Given the description of an element on the screen output the (x, y) to click on. 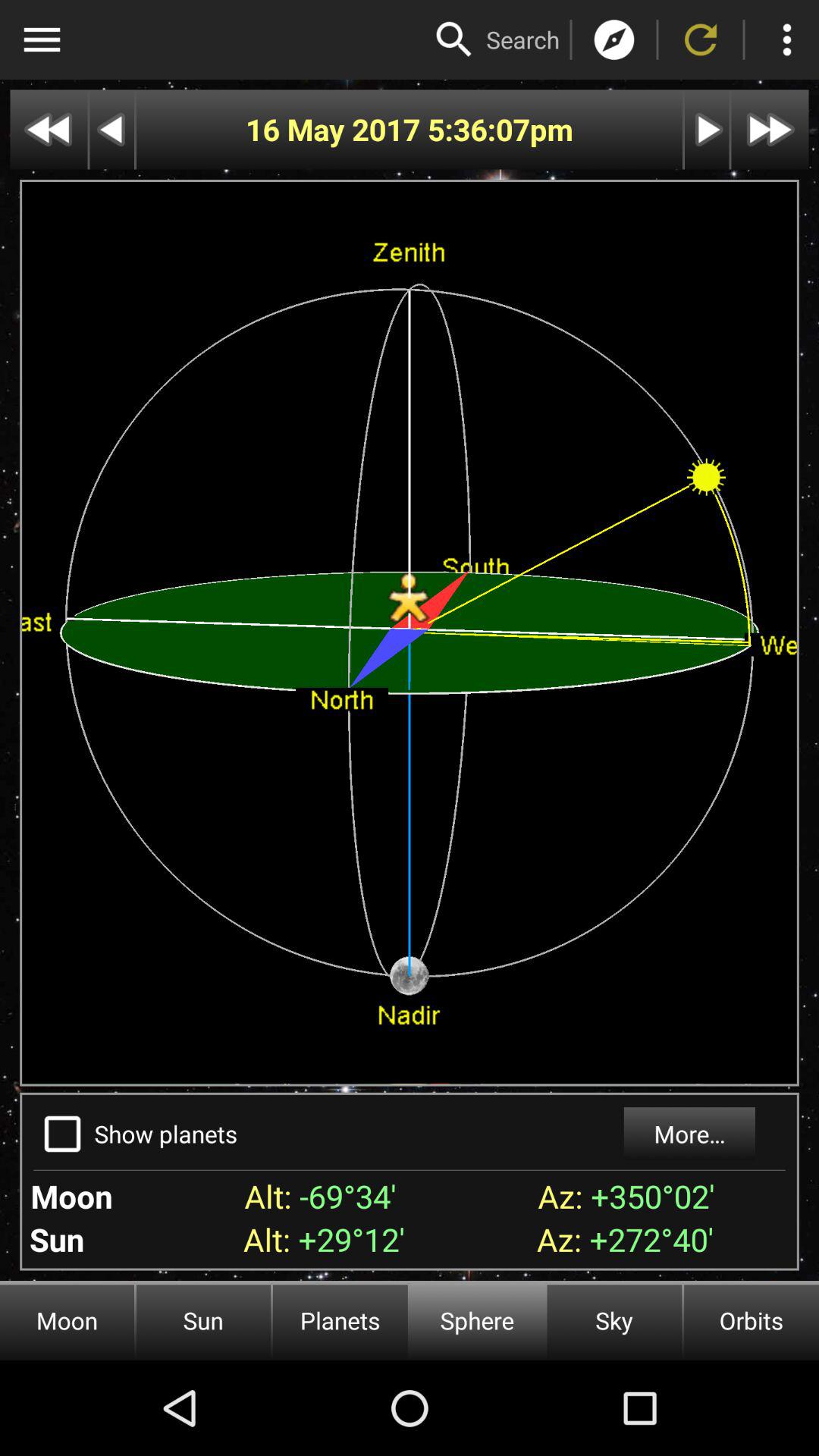
show planets (62, 1133)
